Given the description of an element on the screen output the (x, y) to click on. 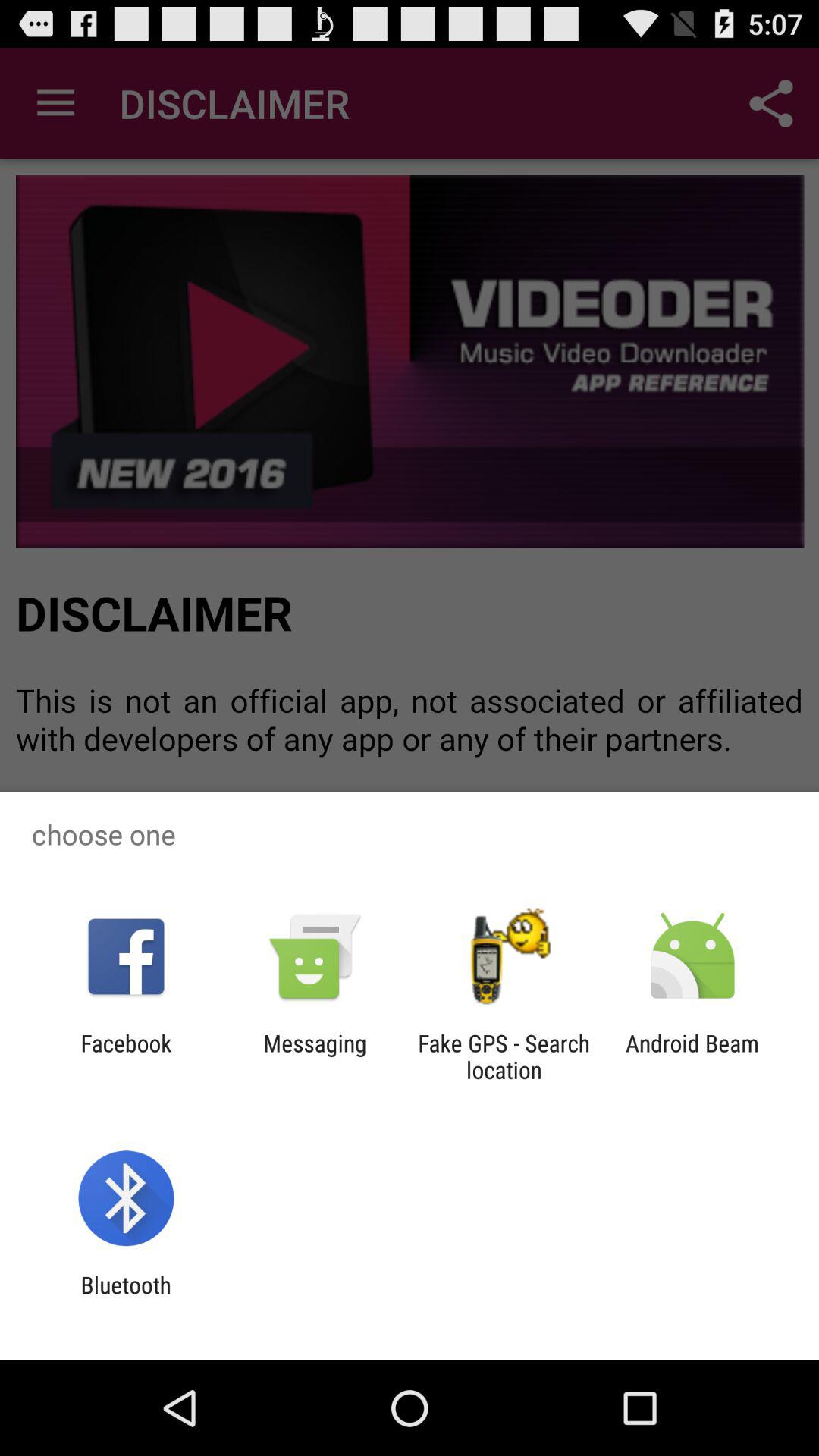
open the app next to fake gps search icon (692, 1056)
